Given the description of an element on the screen output the (x, y) to click on. 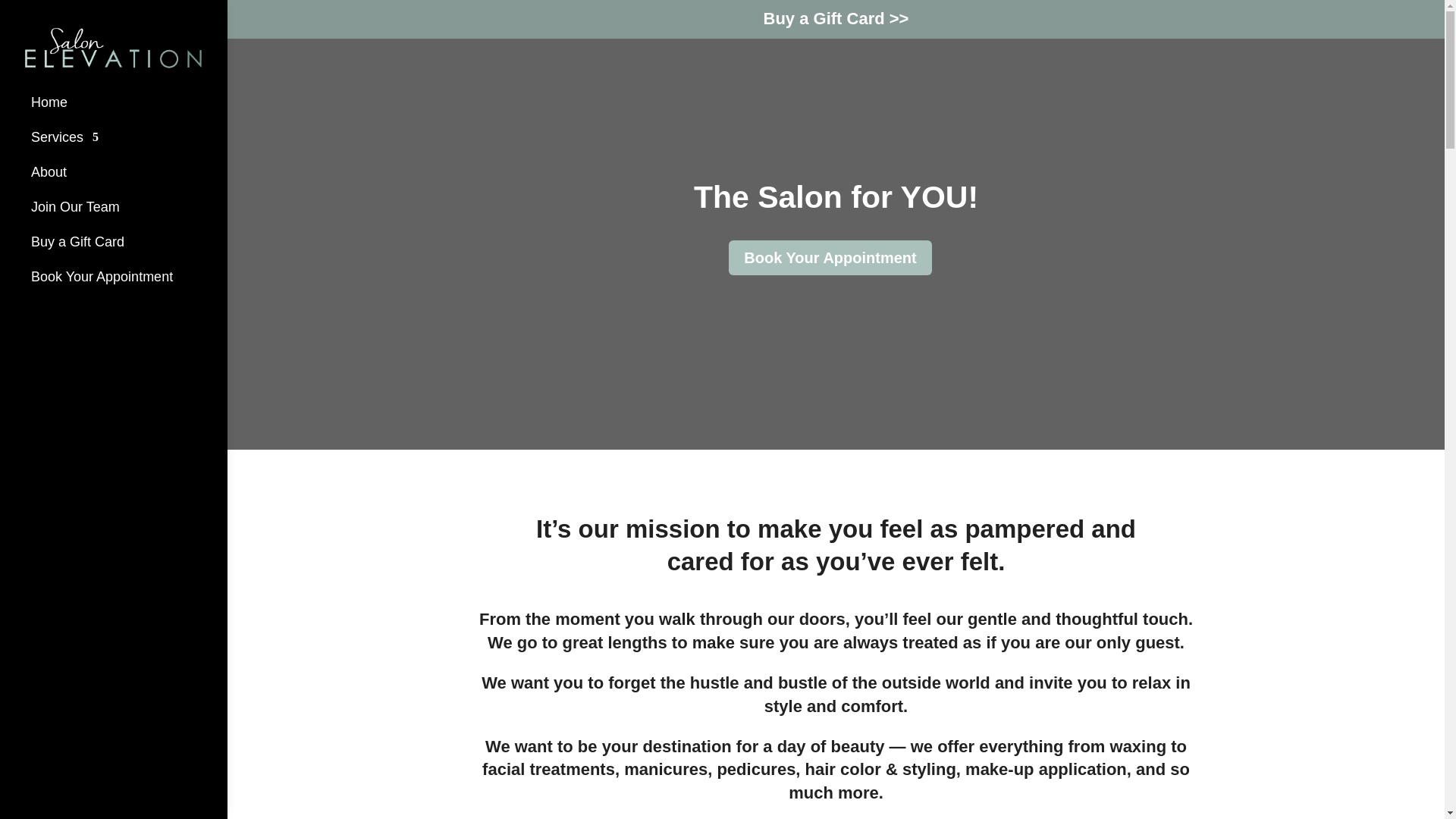
Home (48, 102)
Book Your Appointment (101, 276)
Buy a Gift Card (76, 241)
Services (64, 136)
Join Our Team (74, 206)
Book Your Appointment (830, 257)
About (48, 171)
